Given the description of an element on the screen output the (x, y) to click on. 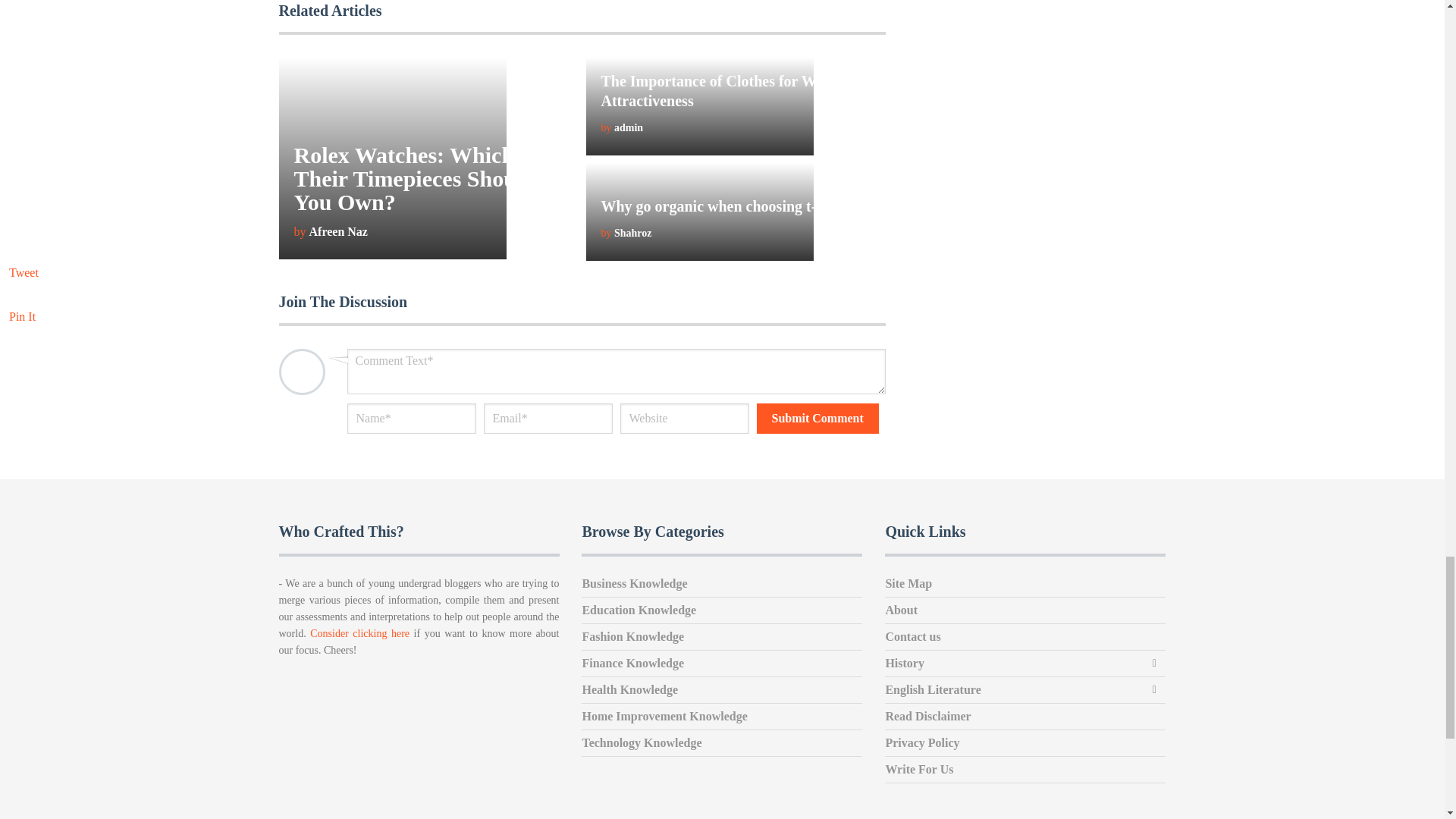
Rolex Watches: Which Of Their Timepieces Should You Own? (419, 178)
Submit Comment (818, 418)
Submit Comment (818, 418)
Rolex Watches: Which Of Their Timepieces Should You Own? (419, 178)
Why go organic when choosing t-shirts? (729, 206)
